Given the description of an element on the screen output the (x, y) to click on. 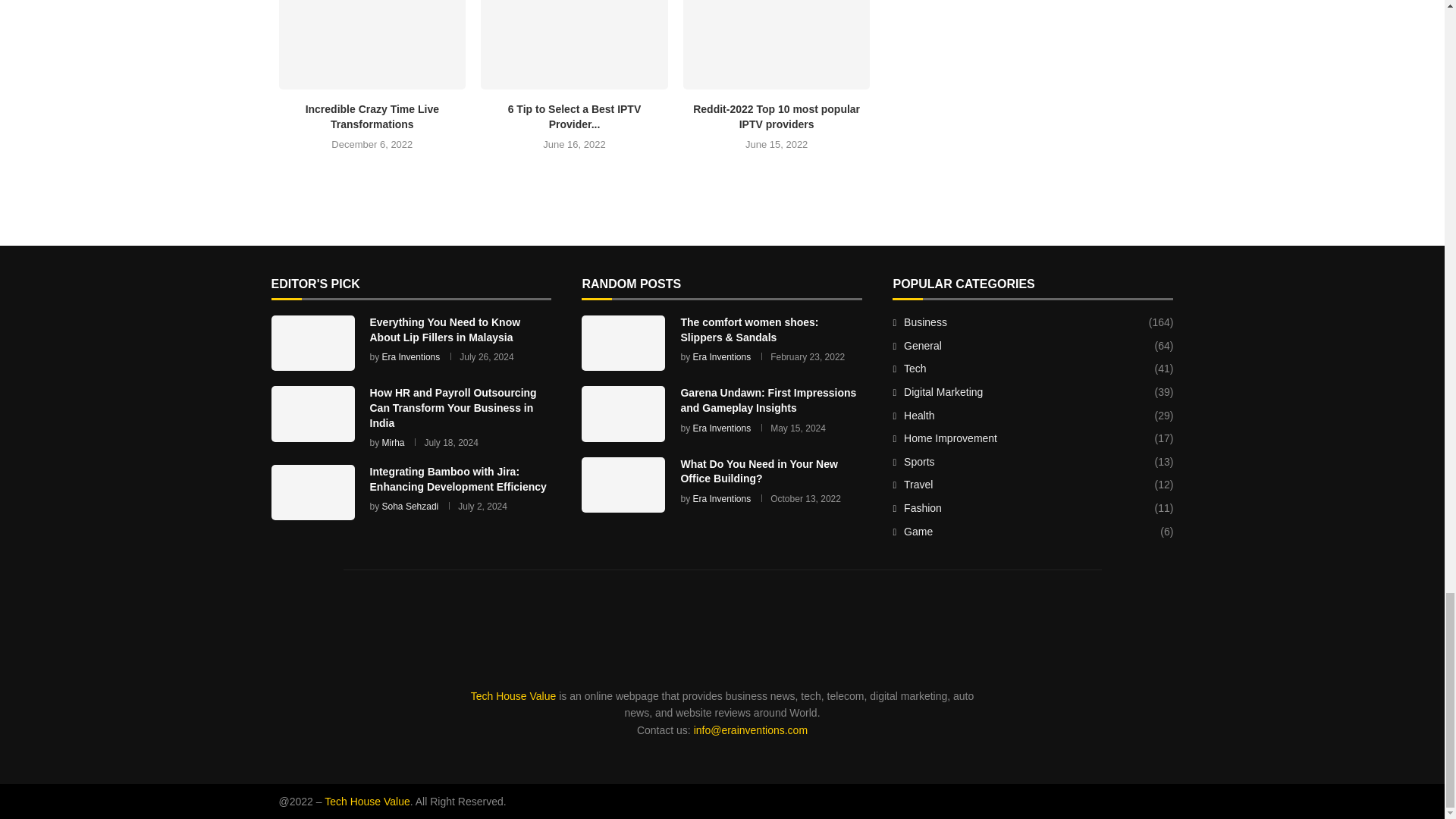
Incredible Crazy Time Live Transformations (372, 116)
6 Tip to Select a Best IPTV Provider... (575, 116)
Incredible Crazy Time Live Transformations (372, 44)
6 Tip to Select a Best IPTV Provider 2022 (574, 44)
Reddit-2022 Top 10 most popular IPTV providers (776, 116)
Reddit-2022 Top 10 most popular IPTV providers (776, 44)
